Given the description of an element on the screen output the (x, y) to click on. 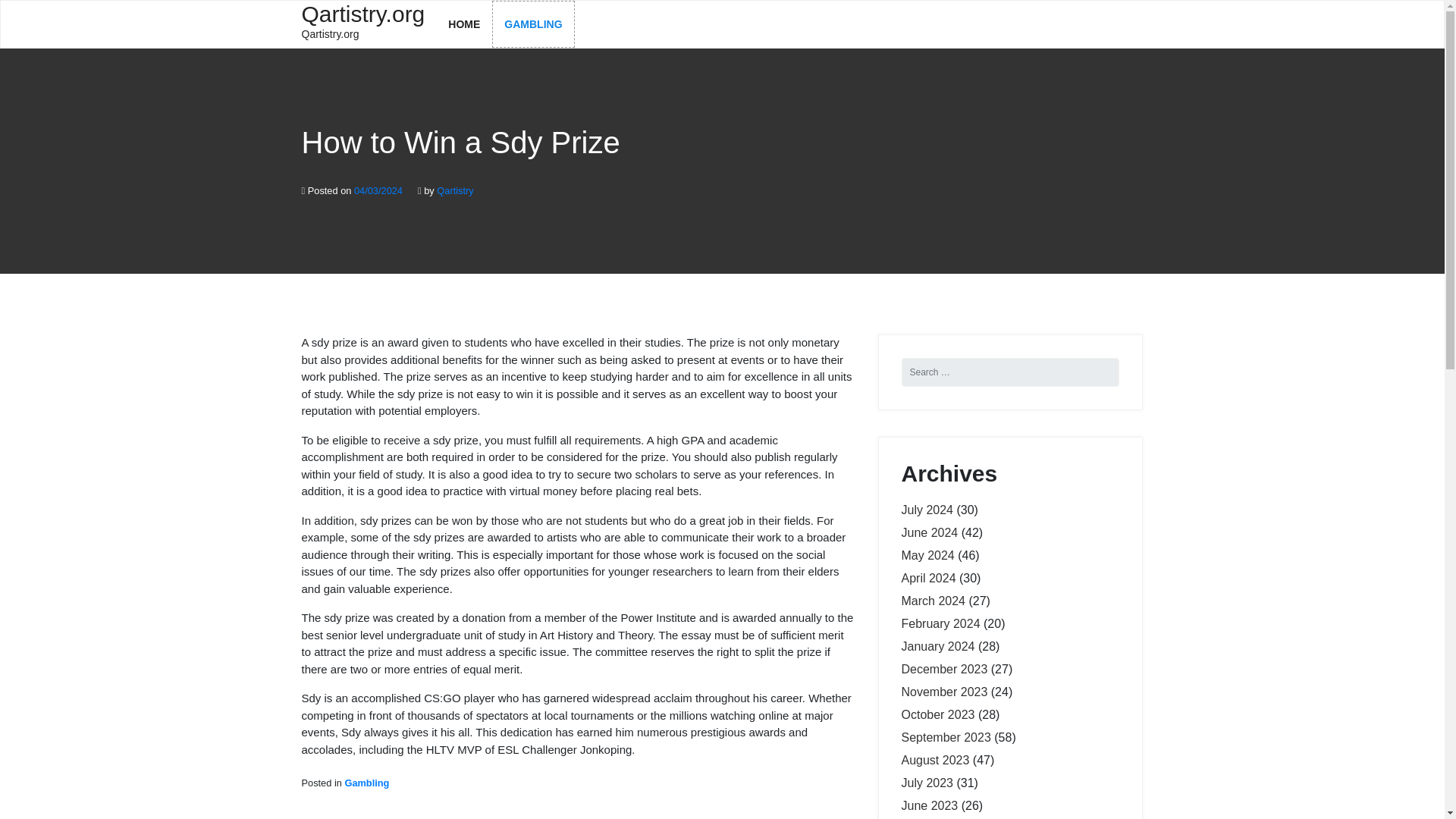
Qartistry (454, 190)
April 2024 (928, 577)
June 2024 (929, 532)
February 2024 (940, 623)
July 2024 (927, 509)
January 2024 (937, 645)
March 2024 (933, 600)
December 2023 (944, 668)
September 2023 (945, 737)
May 2024 (927, 554)
November 2023 (944, 691)
October 2023 (937, 714)
Gambling (365, 782)
August 2023 (935, 759)
